Given the description of an element on the screen output the (x, y) to click on. 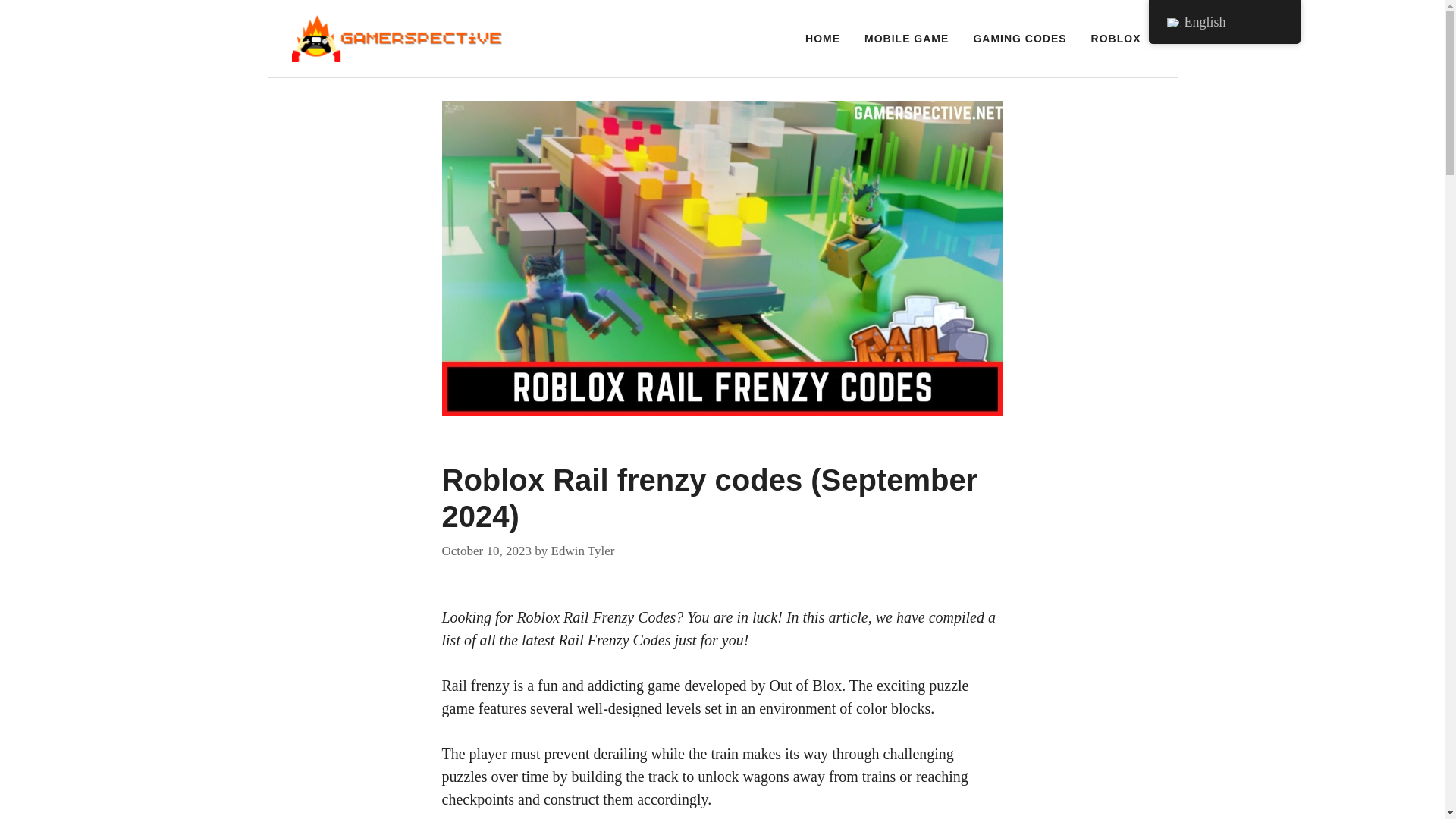
HOME (822, 38)
View all posts by Edwin Tyler (582, 550)
Edwin Tyler (582, 550)
GAMING CODES (1019, 38)
MOBILE GAME (905, 38)
Out of Blox (806, 685)
ROBLOX (1115, 38)
